Given the description of an element on the screen output the (x, y) to click on. 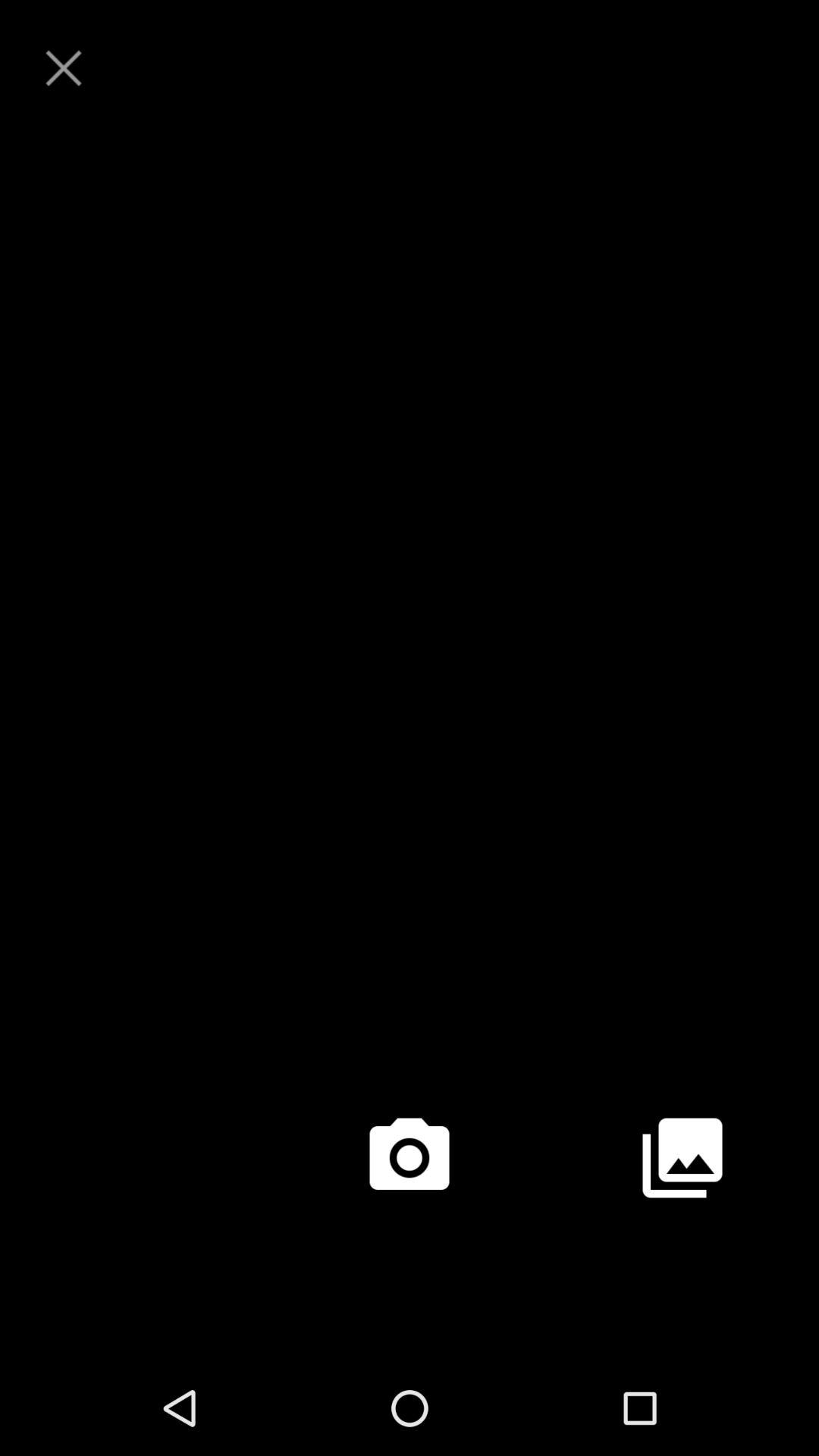
close page (63, 68)
